Given the description of an element on the screen output the (x, y) to click on. 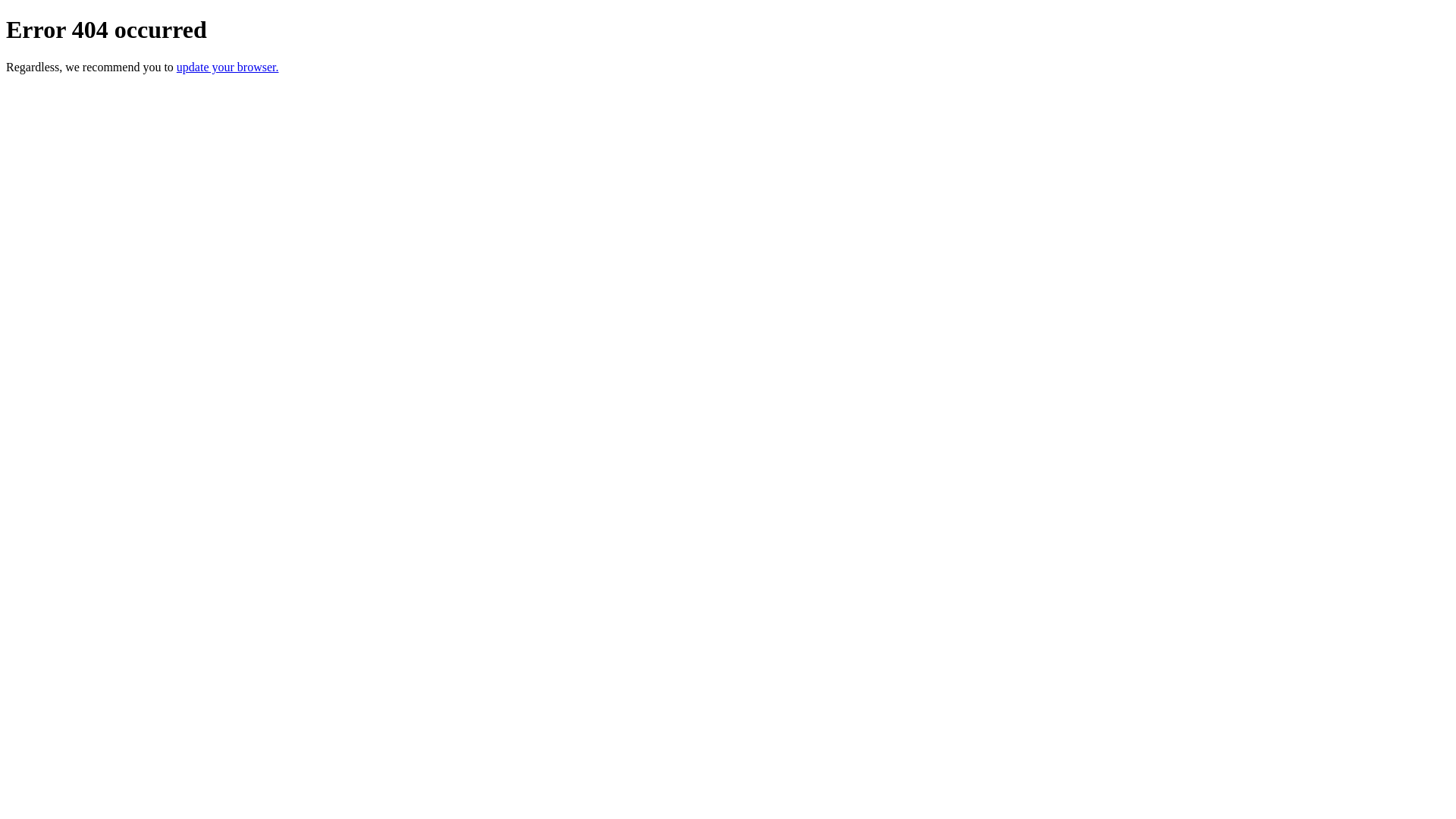
update your browser. Element type: text (227, 66)
